Given the description of an element on the screen output the (x, y) to click on. 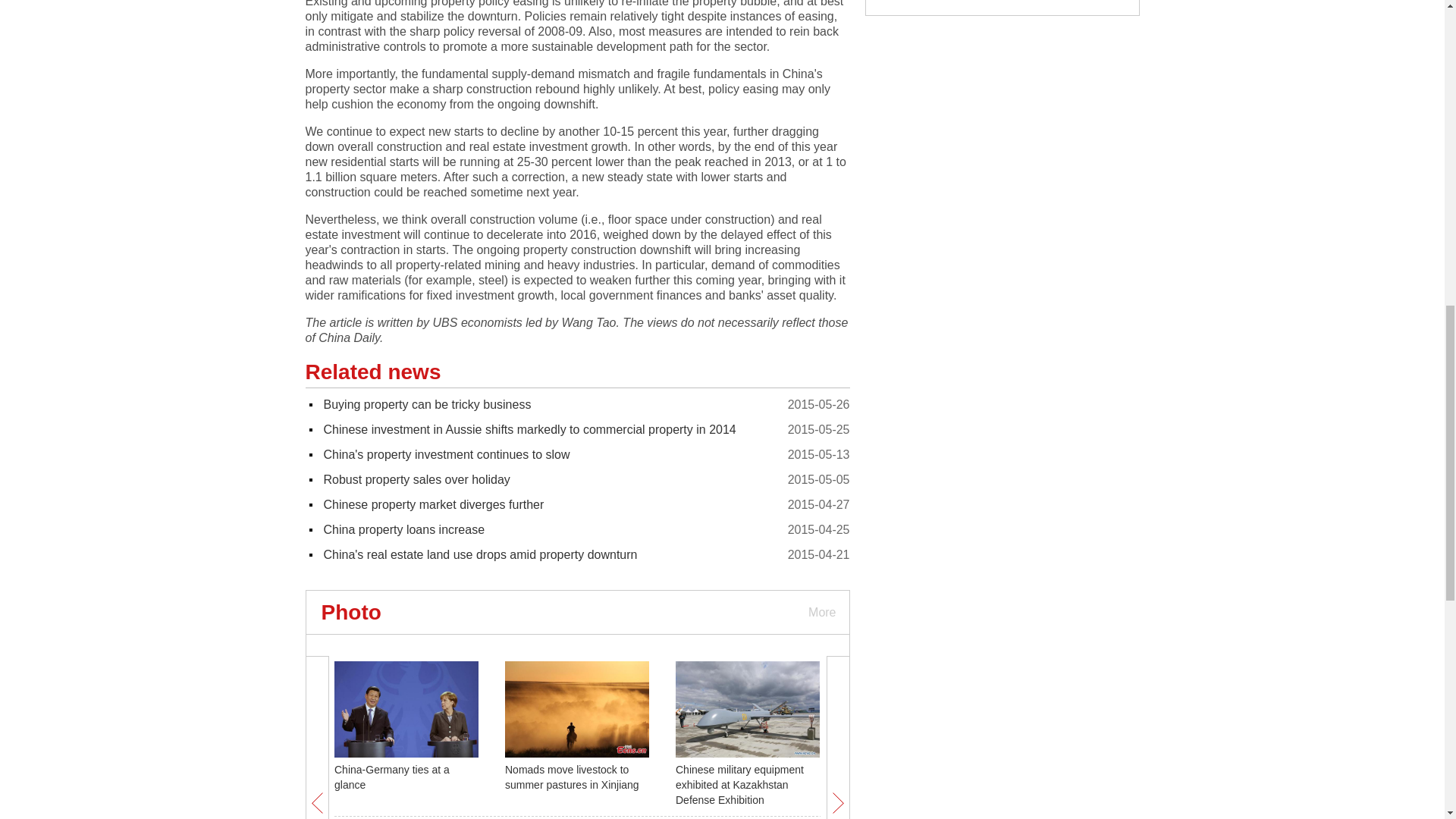
Robust property sales over holiday (416, 479)
China property loans increase (403, 529)
Nomads move livestock to summer pastures in Xinjiang (572, 777)
Buying property can be tricky business (427, 404)
More (820, 611)
China's property investment continues to slow (446, 454)
Chinese property market diverges further (433, 504)
China-Germany ties at a glance (391, 777)
China's real estate land use drops amid property downturn (480, 554)
